Given the description of an element on the screen output the (x, y) to click on. 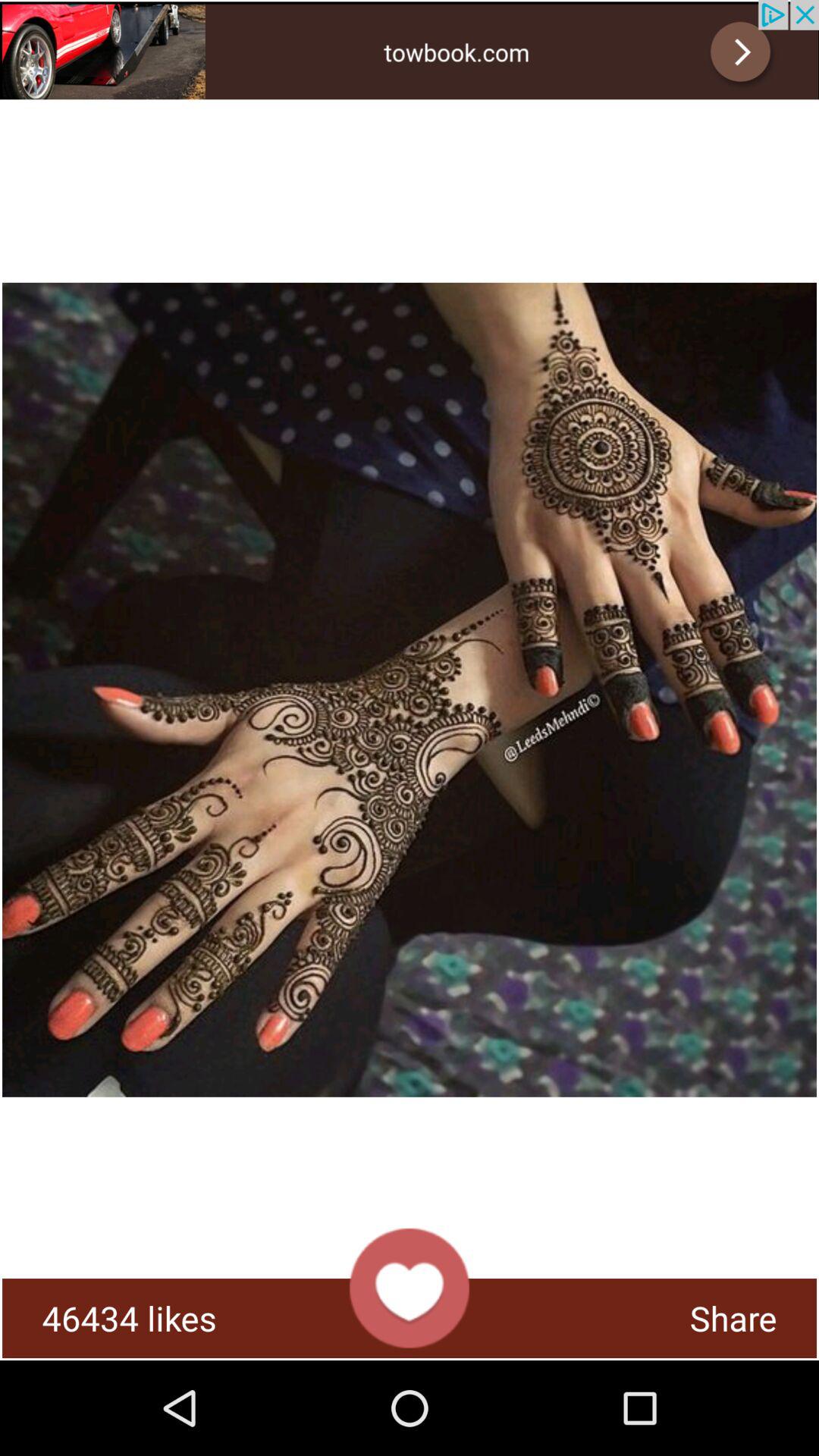
select advertisement (409, 49)
